Given the description of an element on the screen output the (x, y) to click on. 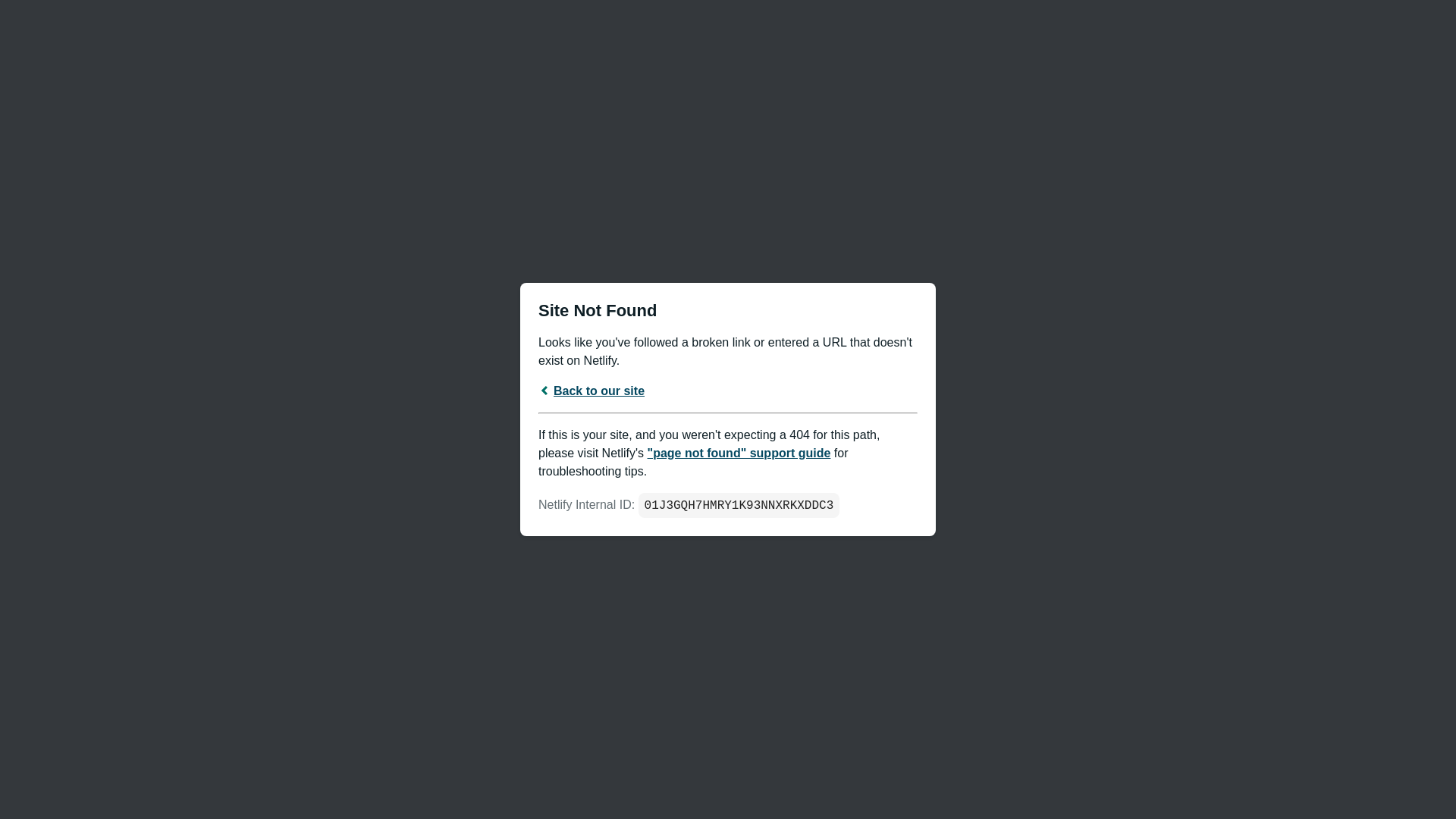
Back to our site (591, 390)
"page not found" support guide (739, 452)
